Given the description of an element on the screen output the (x, y) to click on. 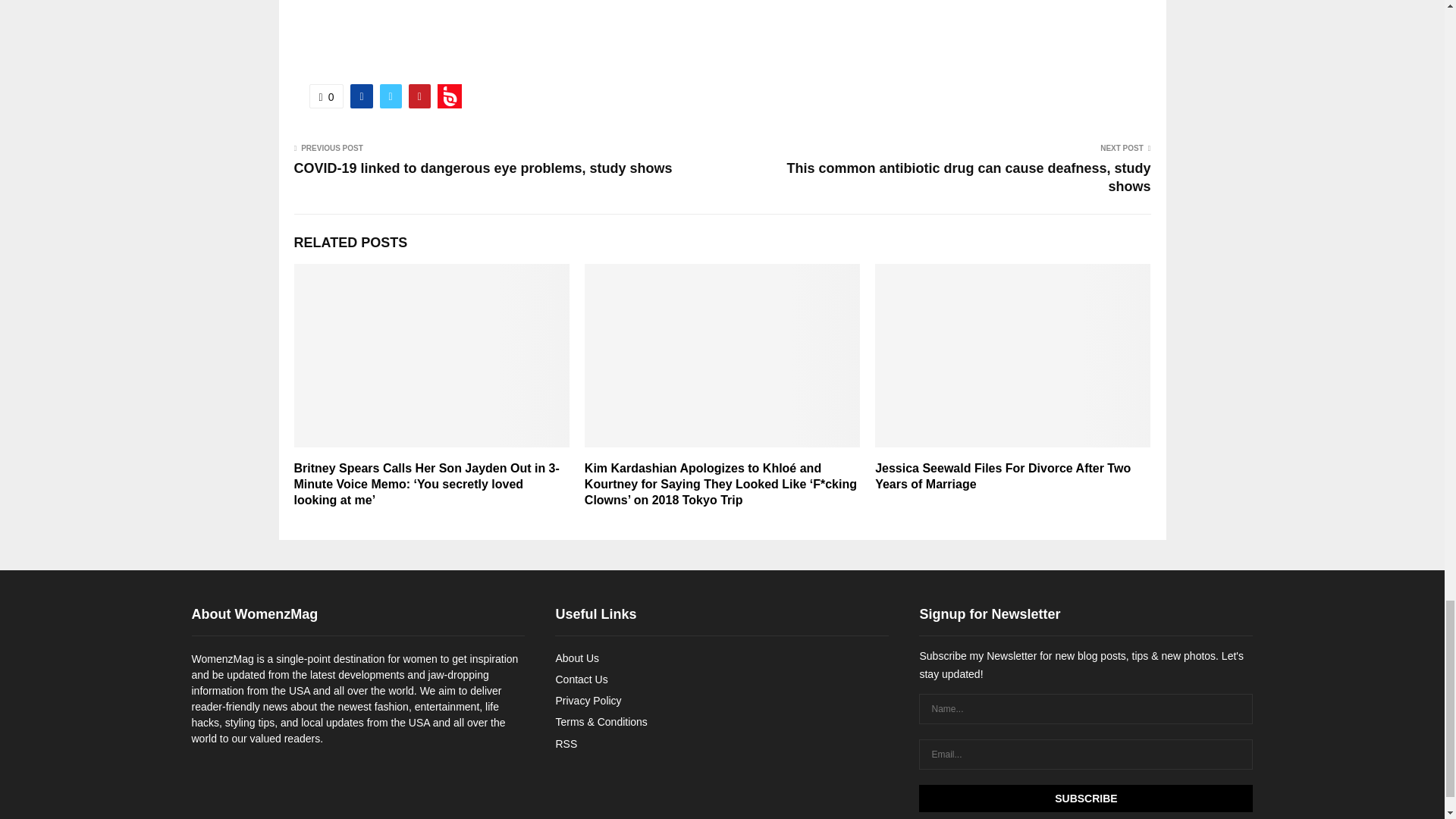
Subscribe (1085, 798)
Like (325, 96)
This common antibiotic drug can cause deafness, study shows (968, 177)
0 (325, 96)
COVID-19 linked to dangerous eye problems, study shows (483, 168)
